Given the description of an element on the screen output the (x, y) to click on. 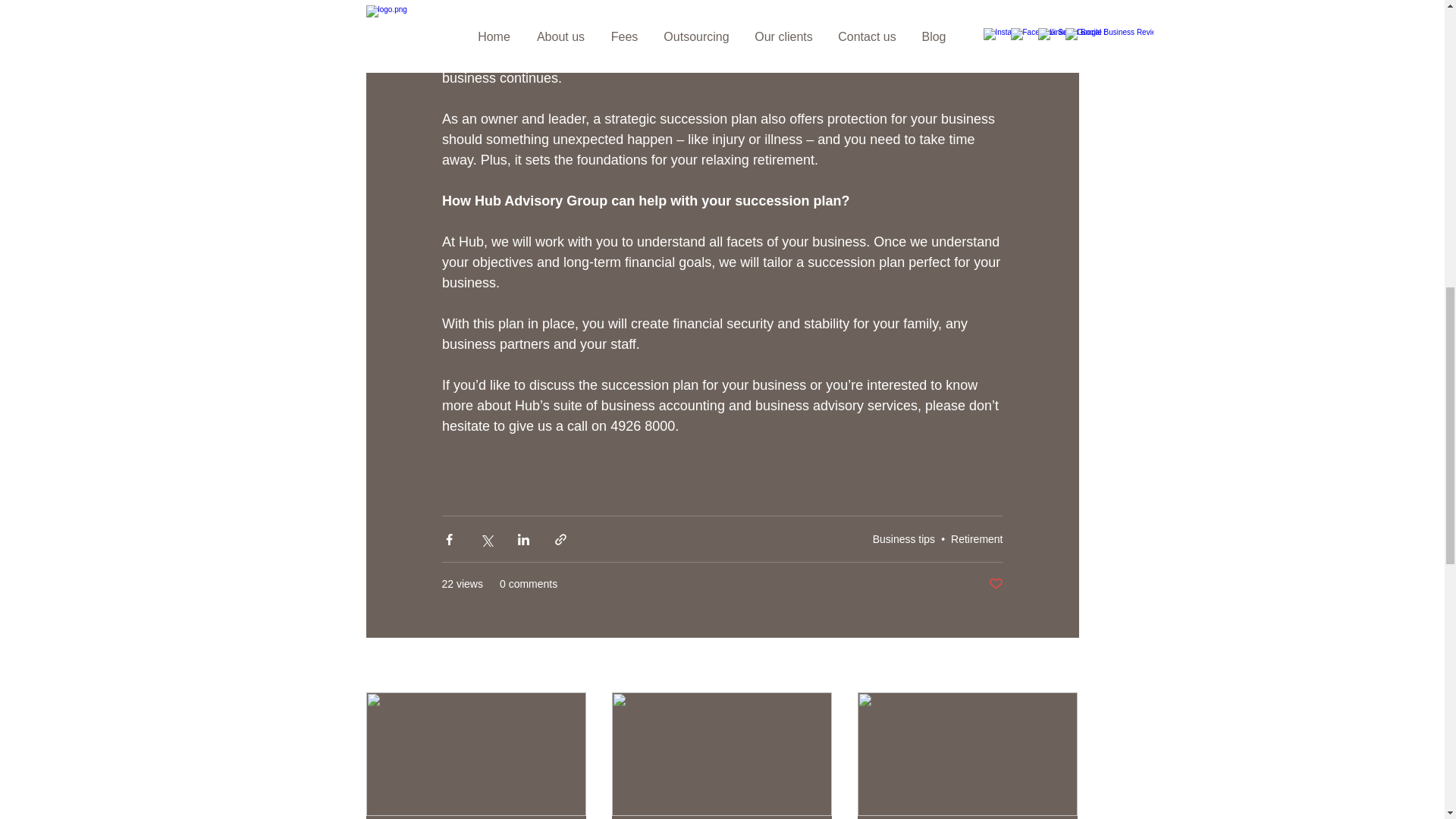
See All (1061, 666)
Business tips (903, 538)
Post not marked as liked (995, 584)
Retirement (976, 538)
